Given the description of an element on the screen output the (x, y) to click on. 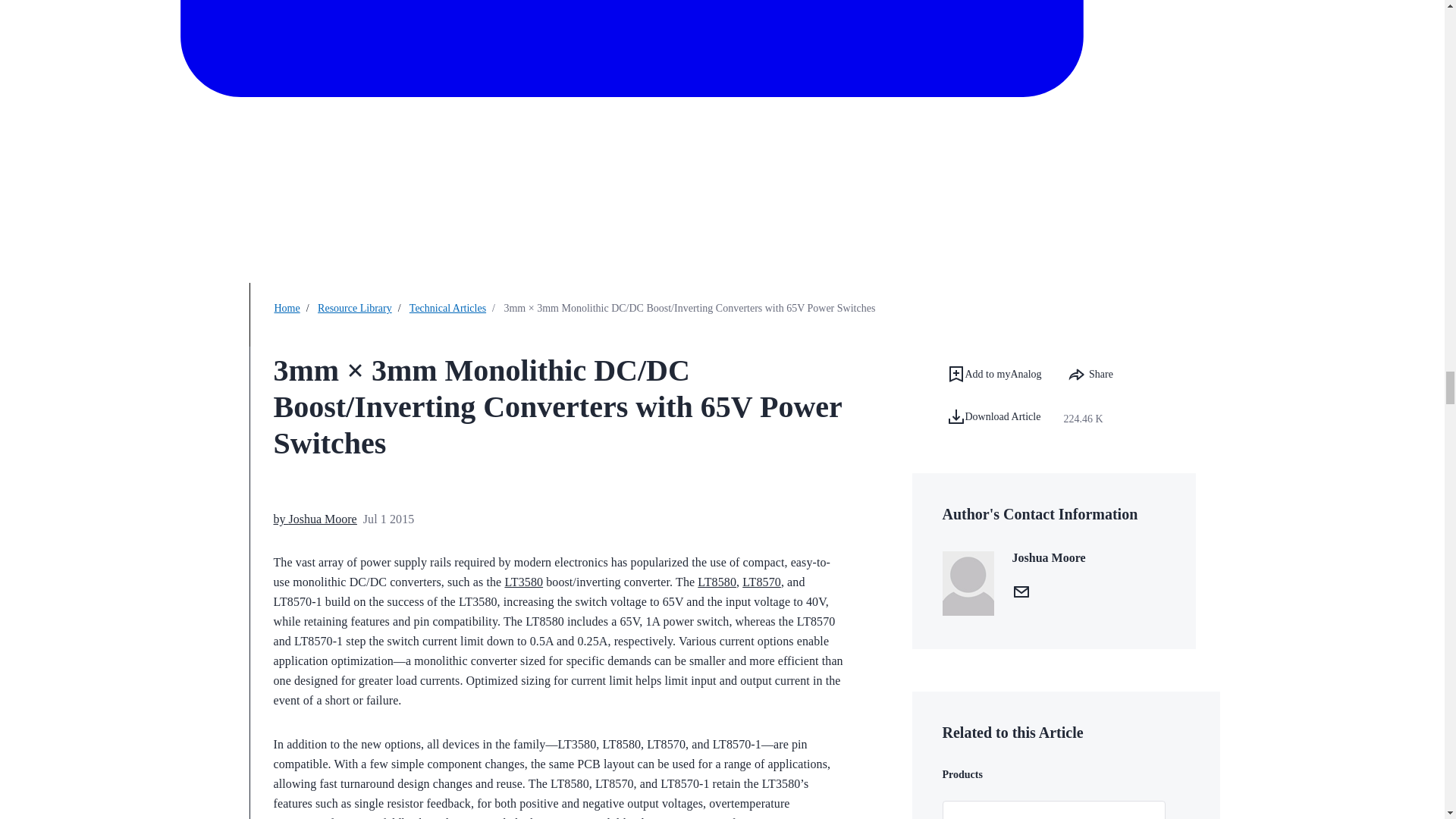
Share (1090, 374)
Resource Library (354, 307)
LT3580 (523, 581)
Download Article (993, 416)
LT8580 (716, 581)
LT8570 (761, 581)
Joshua Moore (322, 518)
Add to myAnalog (993, 374)
Home (287, 307)
Download Article (1002, 419)
Technical Articles (447, 307)
